Given the description of an element on the screen output the (x, y) to click on. 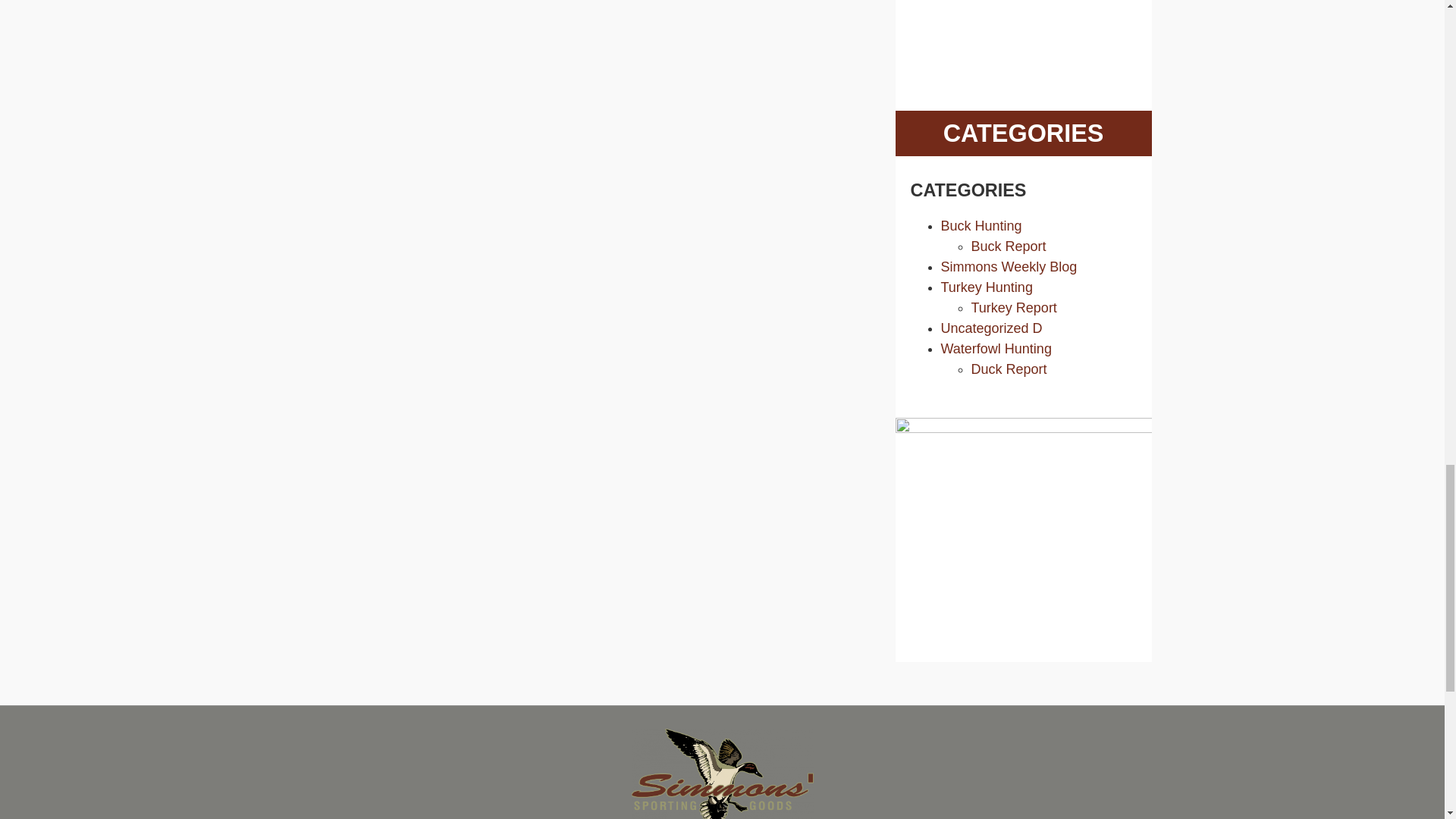
Uncategorized D (991, 328)
Turkey Report (1014, 307)
Buck Report (1008, 246)
Buck Hunting (981, 225)
Simmons Weekly Blog (1008, 266)
Turkey Hunting (986, 287)
